Given the description of an element on the screen output the (x, y) to click on. 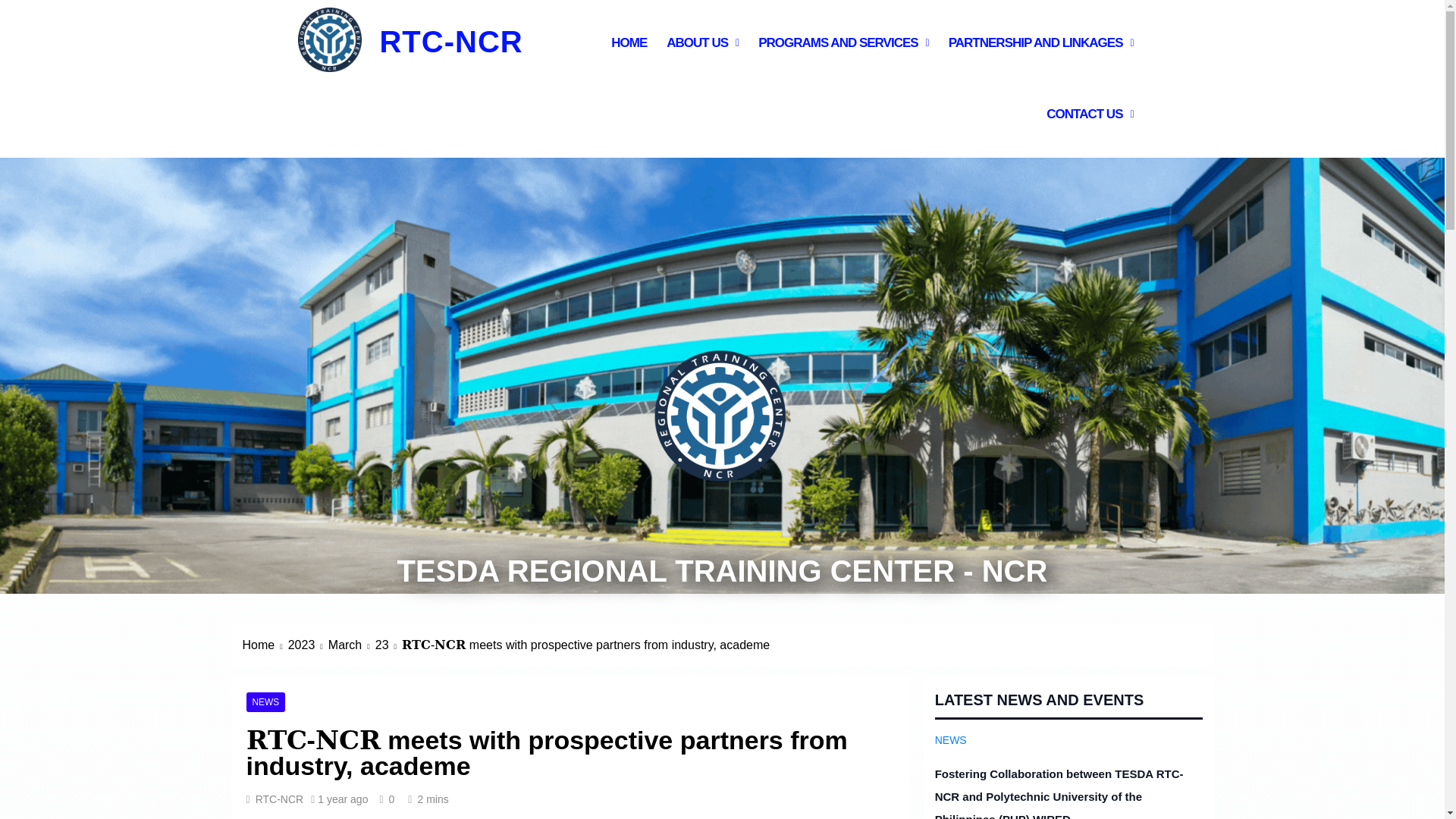
23 (388, 645)
PROGRAMS AND SERVICES (843, 42)
ABOUT US (702, 42)
Home (265, 645)
PARTNERSHIP AND LINKAGES (1040, 42)
2023 (308, 645)
March (352, 645)
CONTACT US (1089, 113)
